Given the description of an element on the screen output the (x, y) to click on. 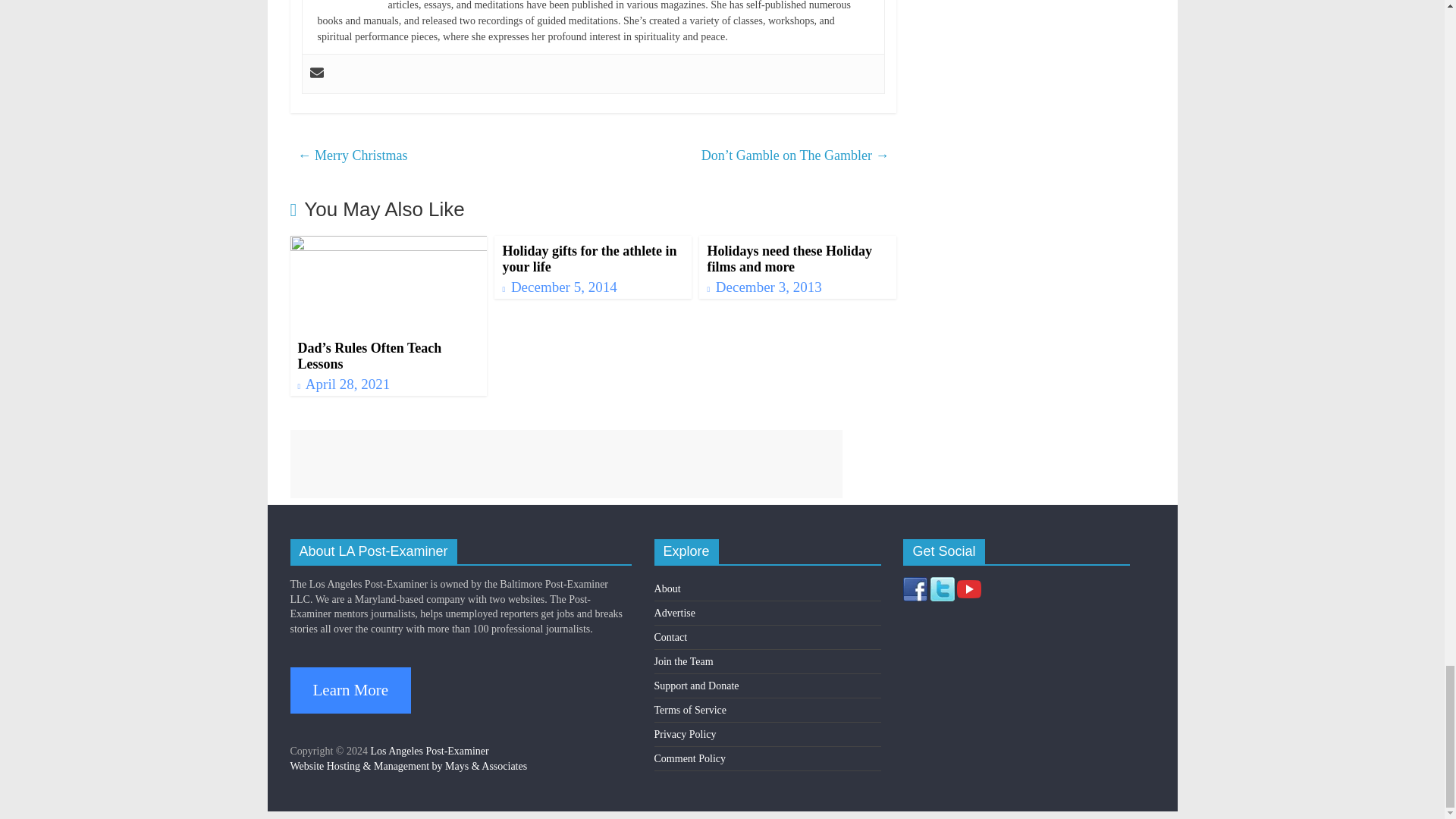
April 28, 2021 (343, 383)
Holiday gifts for the athlete in your life (589, 259)
Holiday gifts for the athlete in your life (589, 259)
8:32 pm (343, 383)
